Given the description of an element on the screen output the (x, y) to click on. 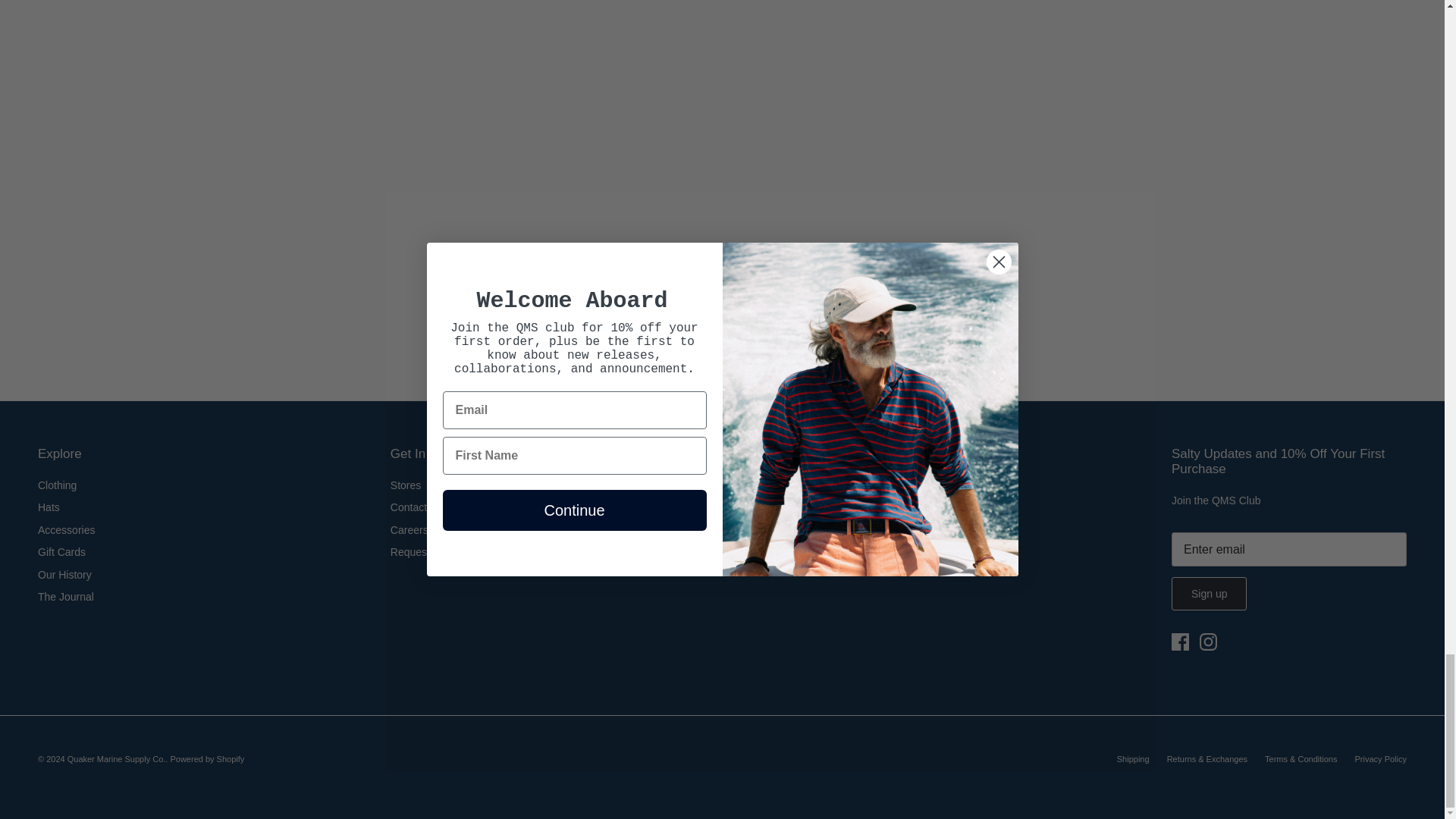
Instagram (1208, 641)
Facebook (1180, 641)
